Given the description of an element on the screen output the (x, y) to click on. 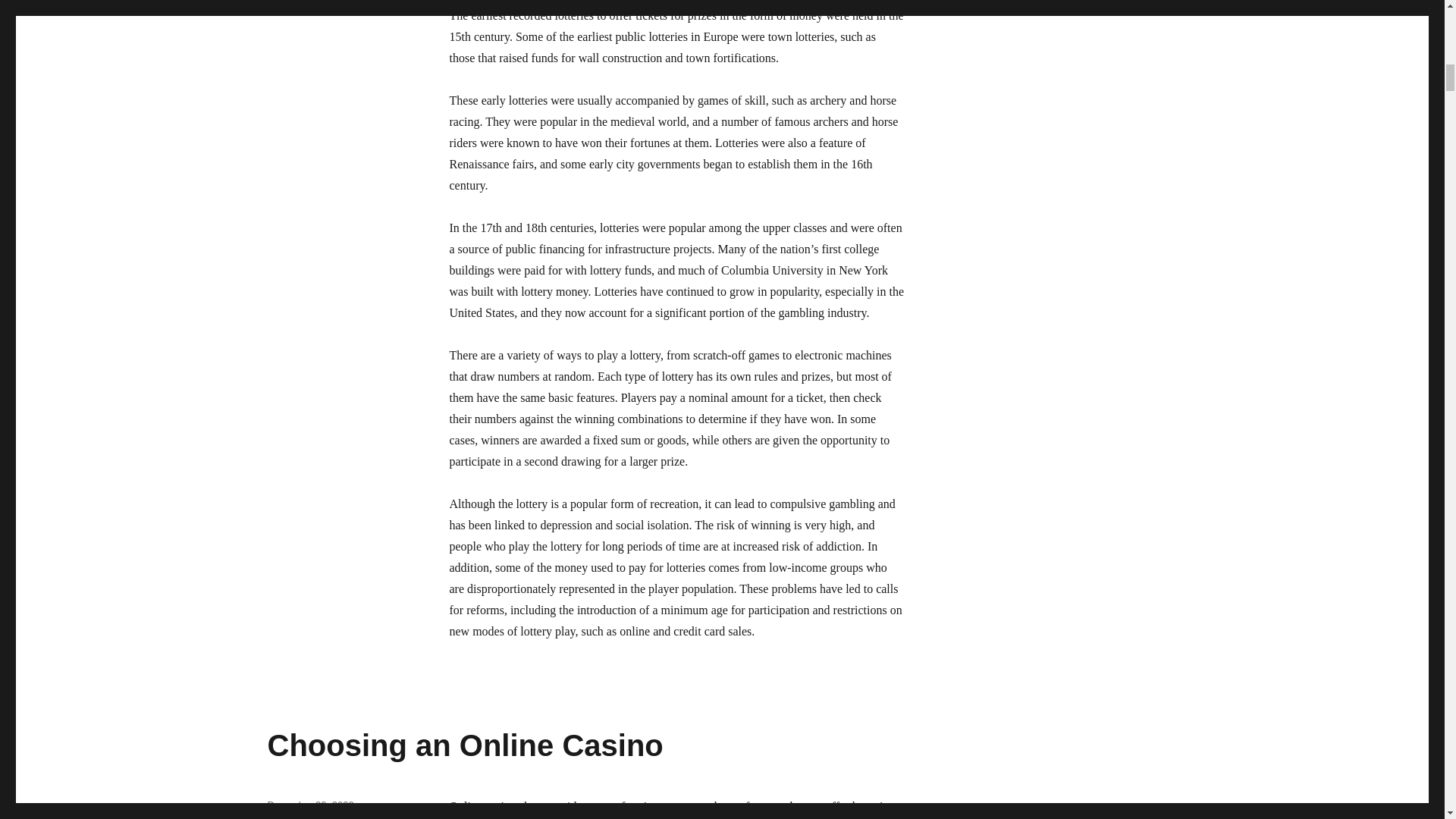
Choosing an Online Casino (464, 745)
December 30, 2023 (309, 804)
